Given the description of an element on the screen output the (x, y) to click on. 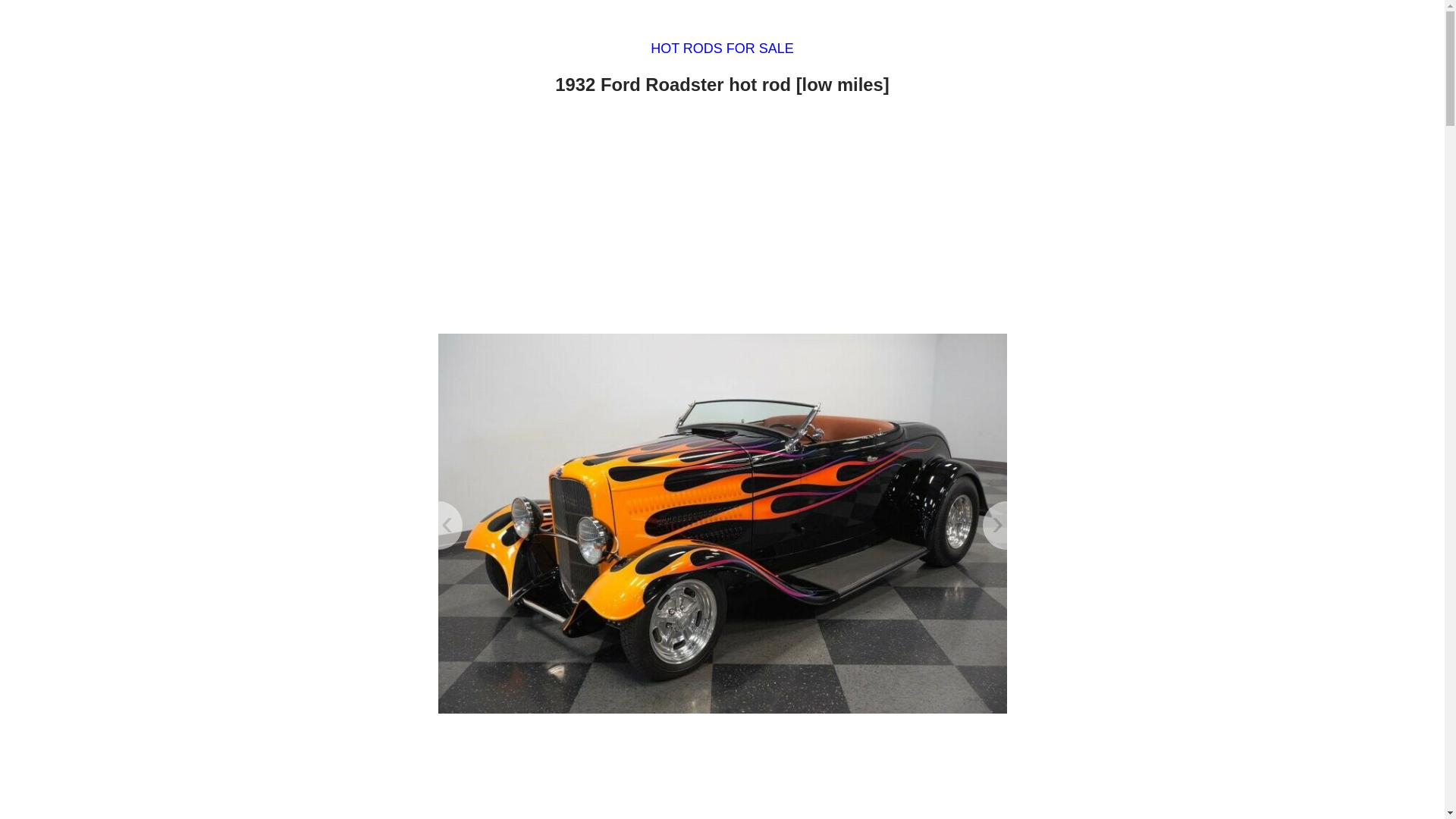
HOT RODS FOR SALE (721, 48)
Advertisement (722, 771)
Advertisement (722, 218)
